Given the description of an element on the screen output the (x, y) to click on. 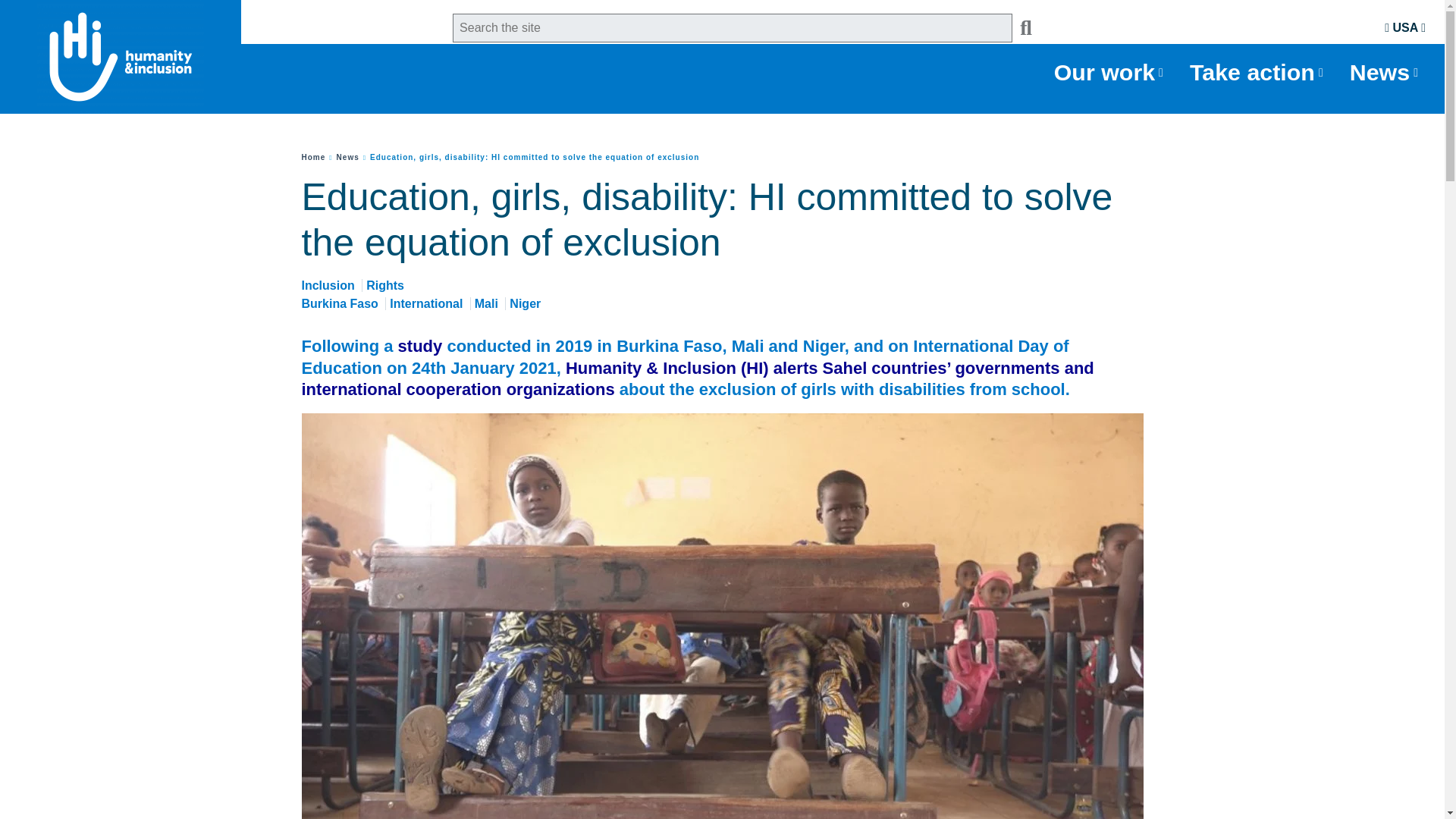
Our work (1109, 72)
Home (313, 157)
News (347, 157)
USA (1404, 27)
Take action (1258, 72)
